Given the description of an element on the screen output the (x, y) to click on. 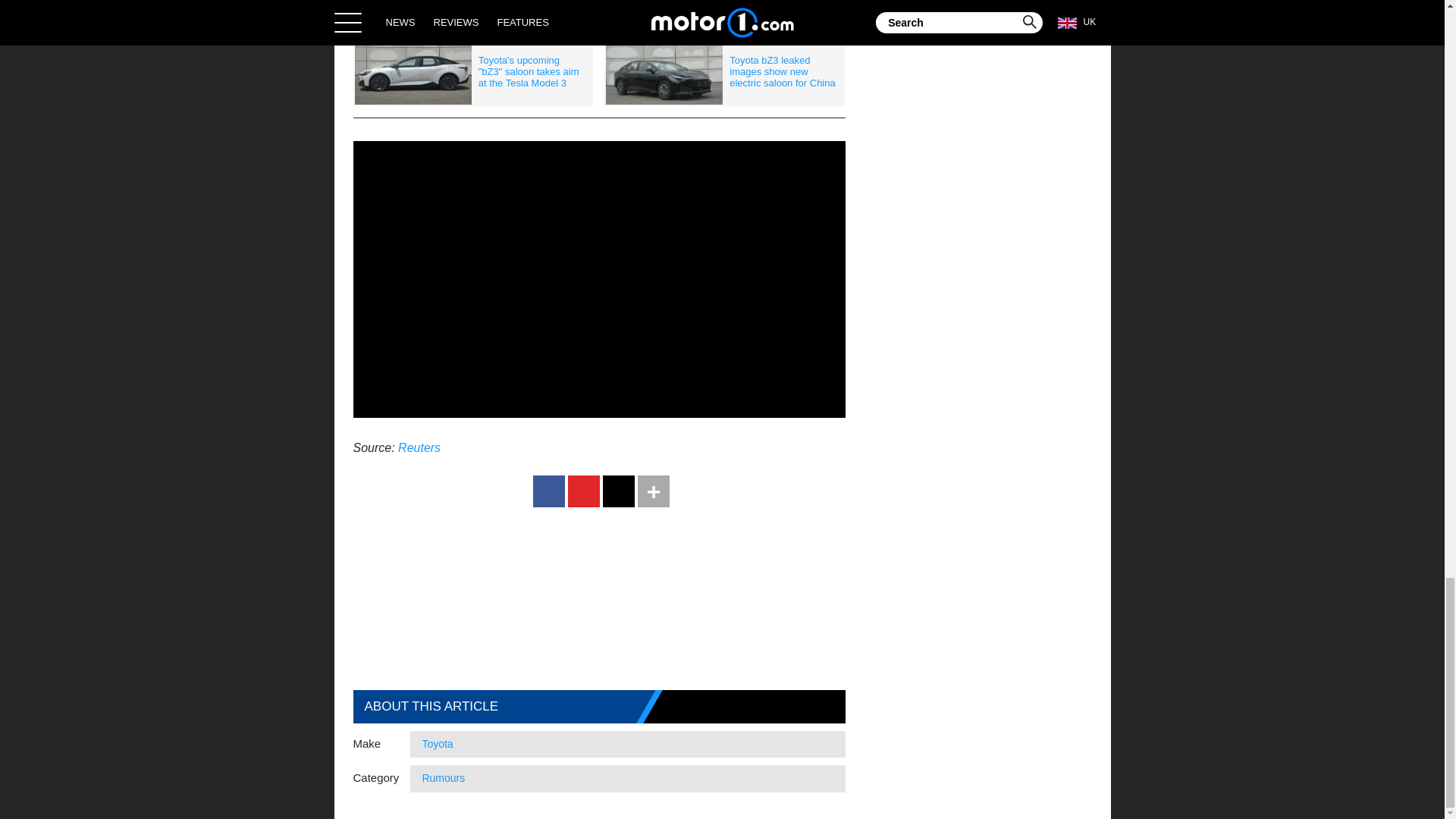
Toyota bZ3 leaked images show new electric saloon for China (724, 72)
Reuters (419, 447)
